Given the description of an element on the screen output the (x, y) to click on. 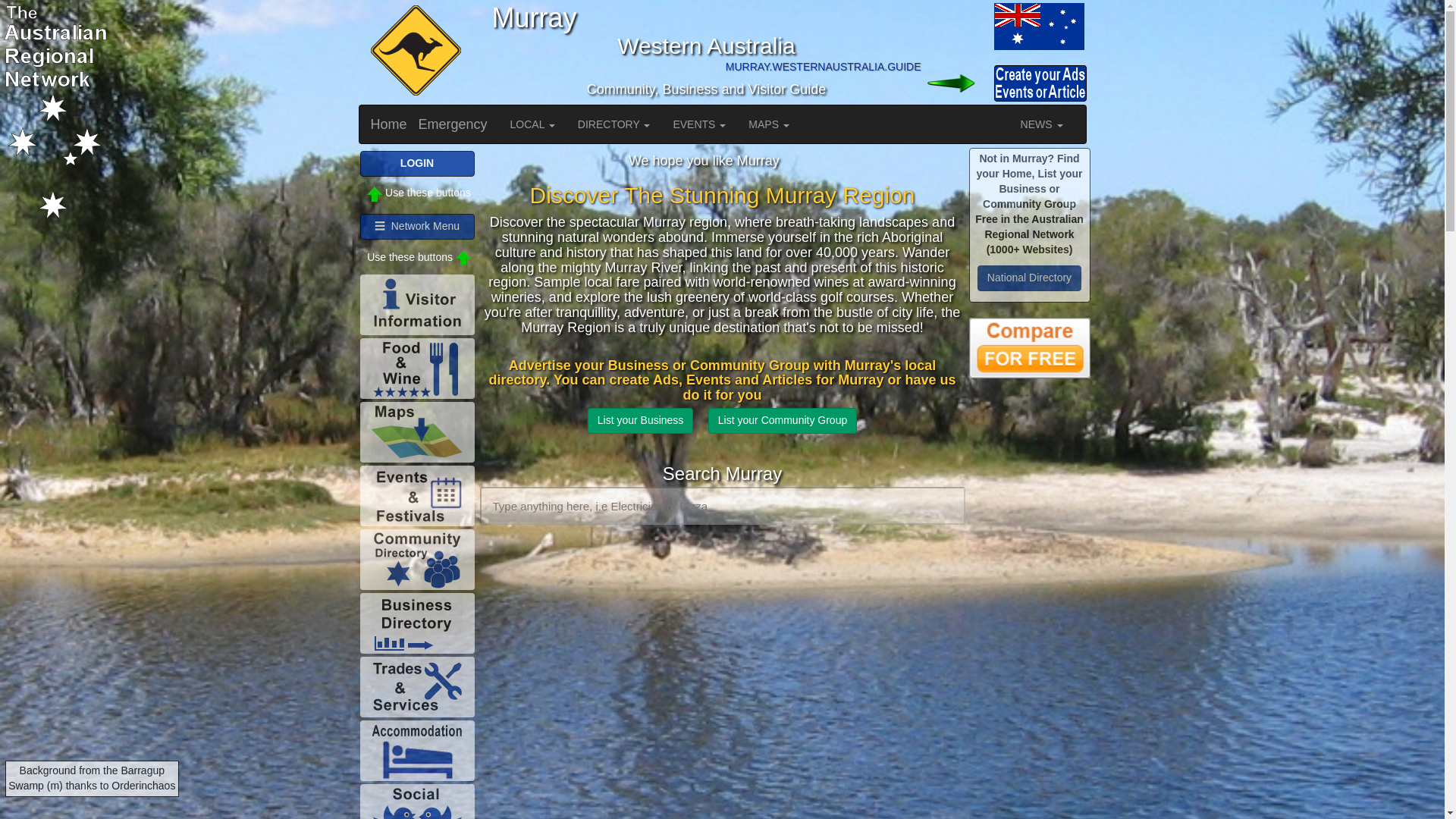
Murray Skippycoin ICG (413, 52)
Home (389, 124)
LOCAL (532, 124)
Australia (956, 26)
Murray Hotel Search Engine (1029, 347)
Murray Australia (1037, 26)
Login to murray.westernaustralia.guide (956, 83)
DIRECTORY (614, 124)
Emergency (453, 124)
